Given the description of an element on the screen output the (x, y) to click on. 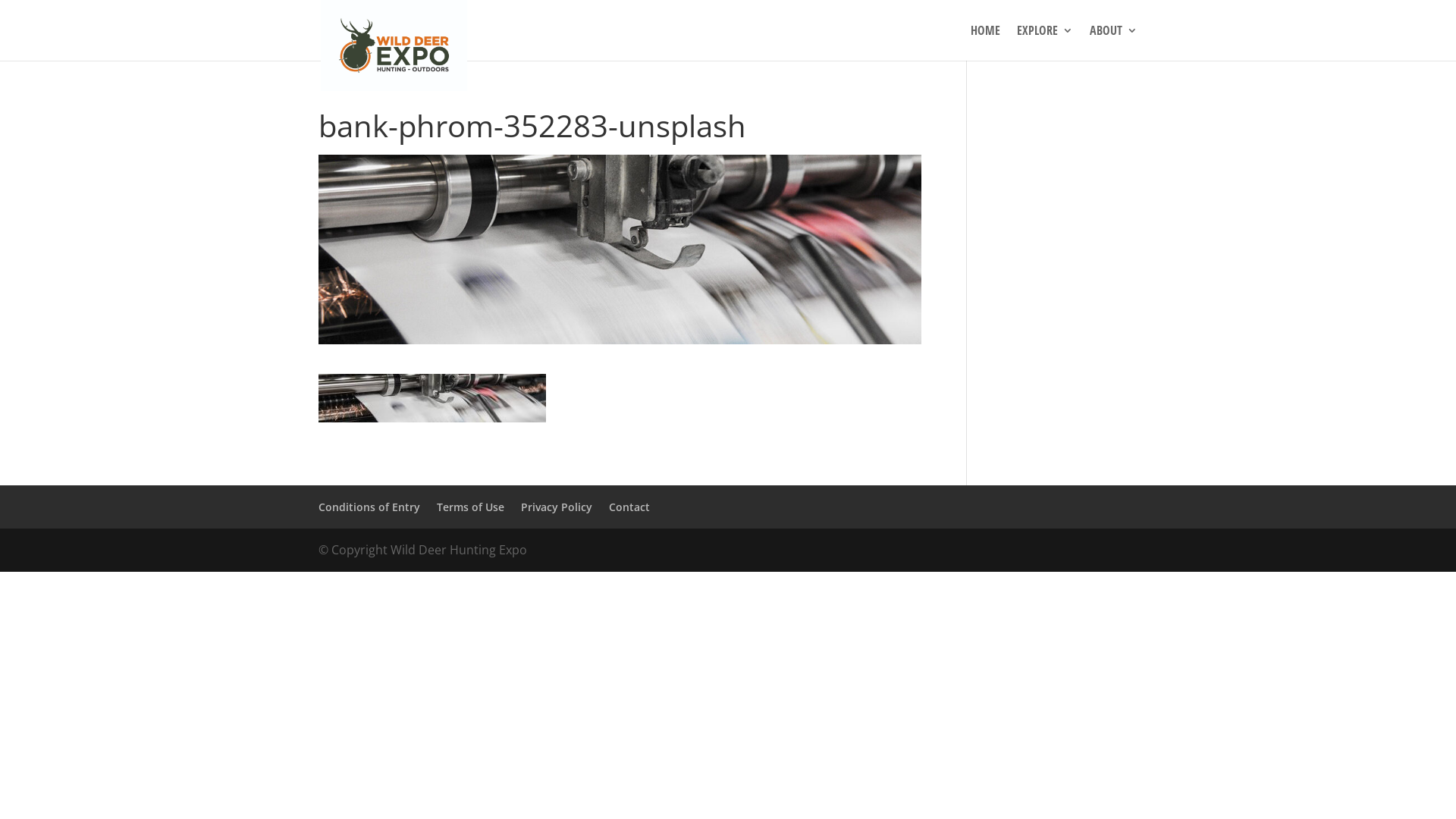
Terms of Use Element type: text (470, 505)
HOME Element type: text (985, 42)
Conditions of Entry Element type: text (369, 505)
ABOUT Element type: text (1113, 42)
Privacy Policy Element type: text (556, 505)
EXPLORE Element type: text (1044, 42)
Contact Element type: text (628, 505)
